Given the description of an element on the screen output the (x, y) to click on. 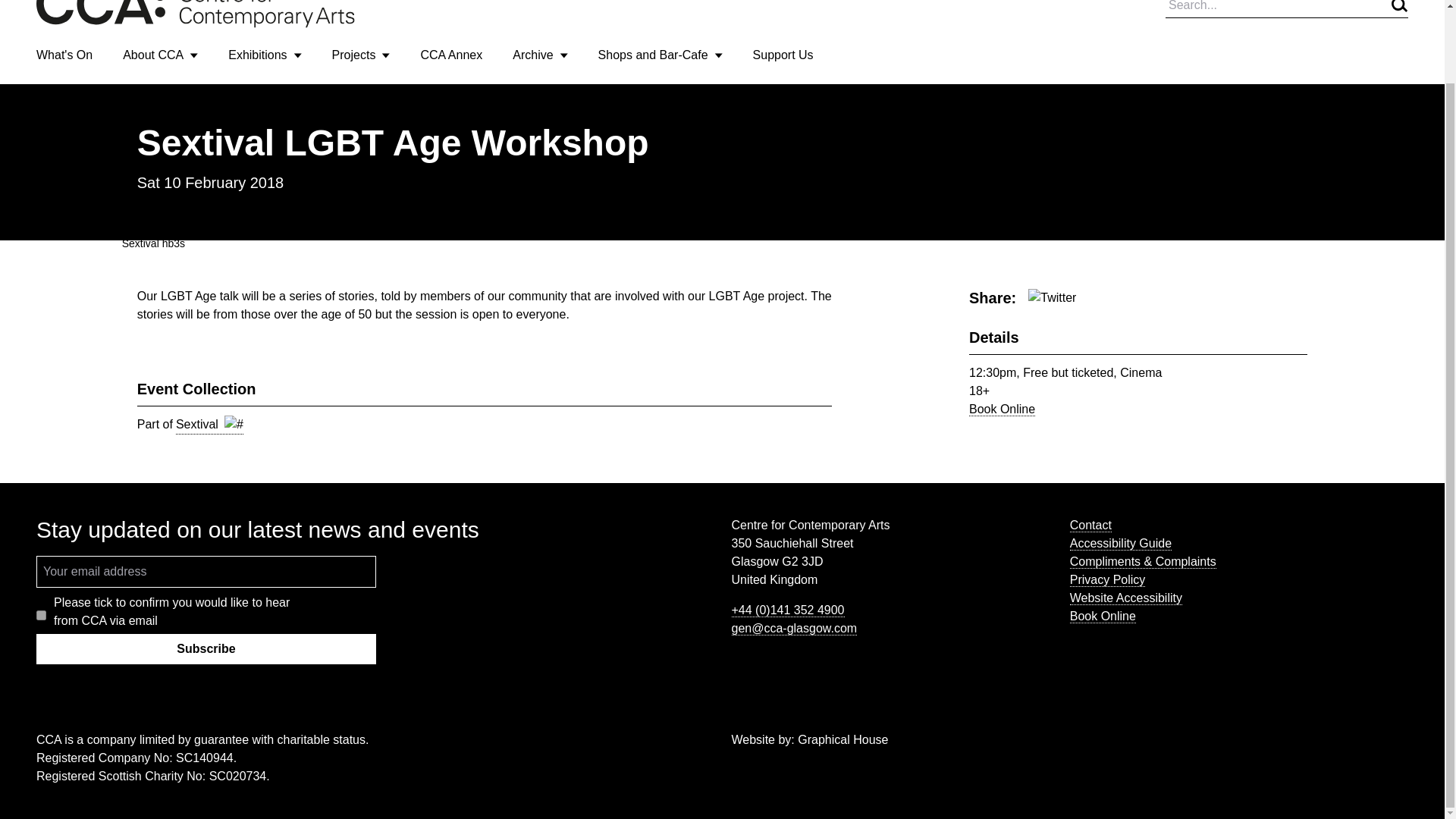
Exhibitions (264, 54)
CCA Annex (450, 54)
What's On (64, 54)
Projects (360, 54)
About CCA (160, 54)
Share on Twitter (1051, 298)
Archive (539, 54)
